Given the description of an element on the screen output the (x, y) to click on. 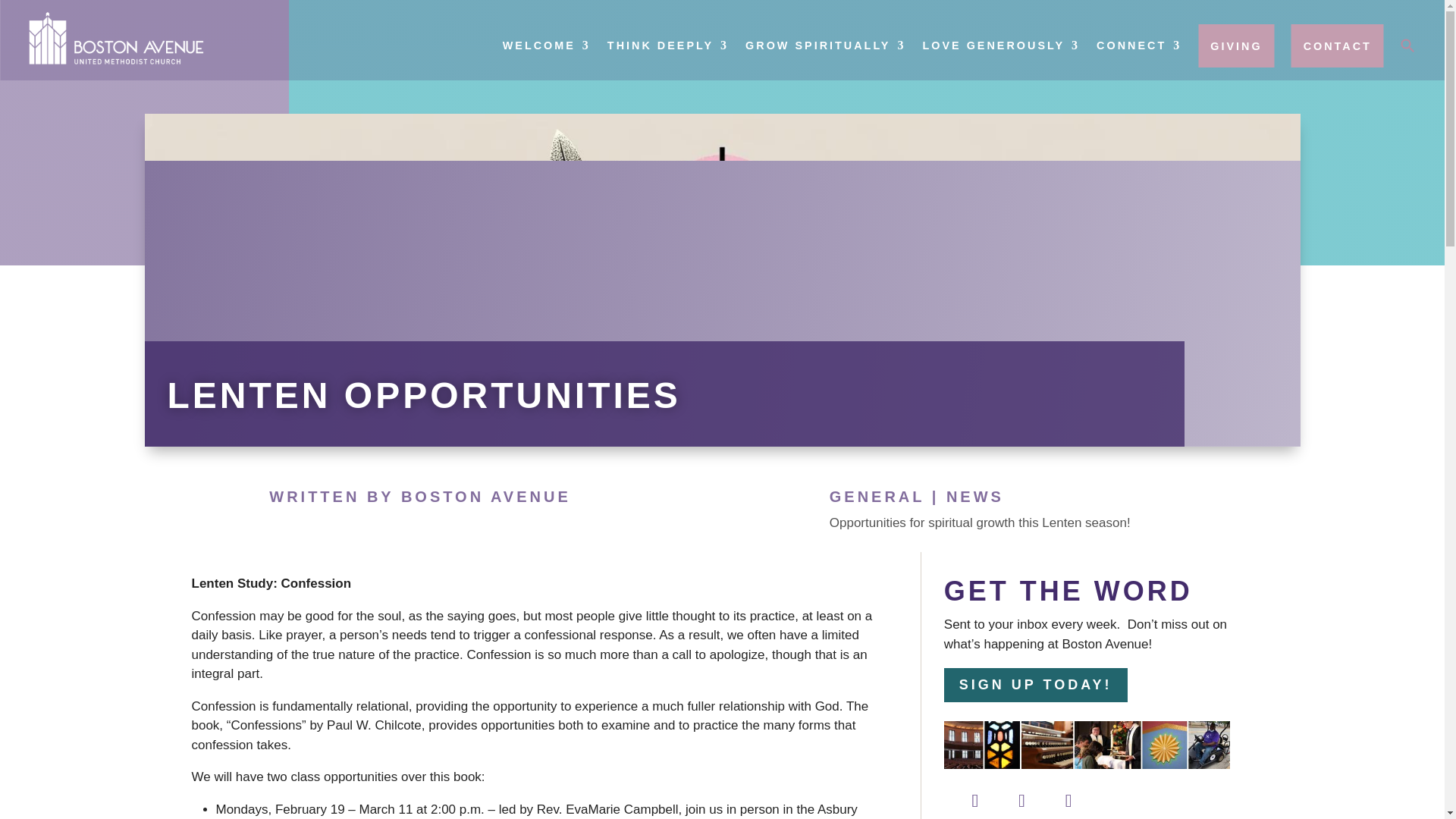
small-horizonal-building1 (1086, 745)
WELCOME (546, 45)
GROW SPIRITUALLY (825, 45)
LOVE GENEROUSLY (1000, 45)
Follow on Instagram (1067, 800)
Follow on Facebook (974, 800)
CONNECT (1138, 45)
CONTACT (1337, 45)
GIVING (1236, 45)
THINK DEEPLY (668, 45)
